Given the description of an element on the screen output the (x, y) to click on. 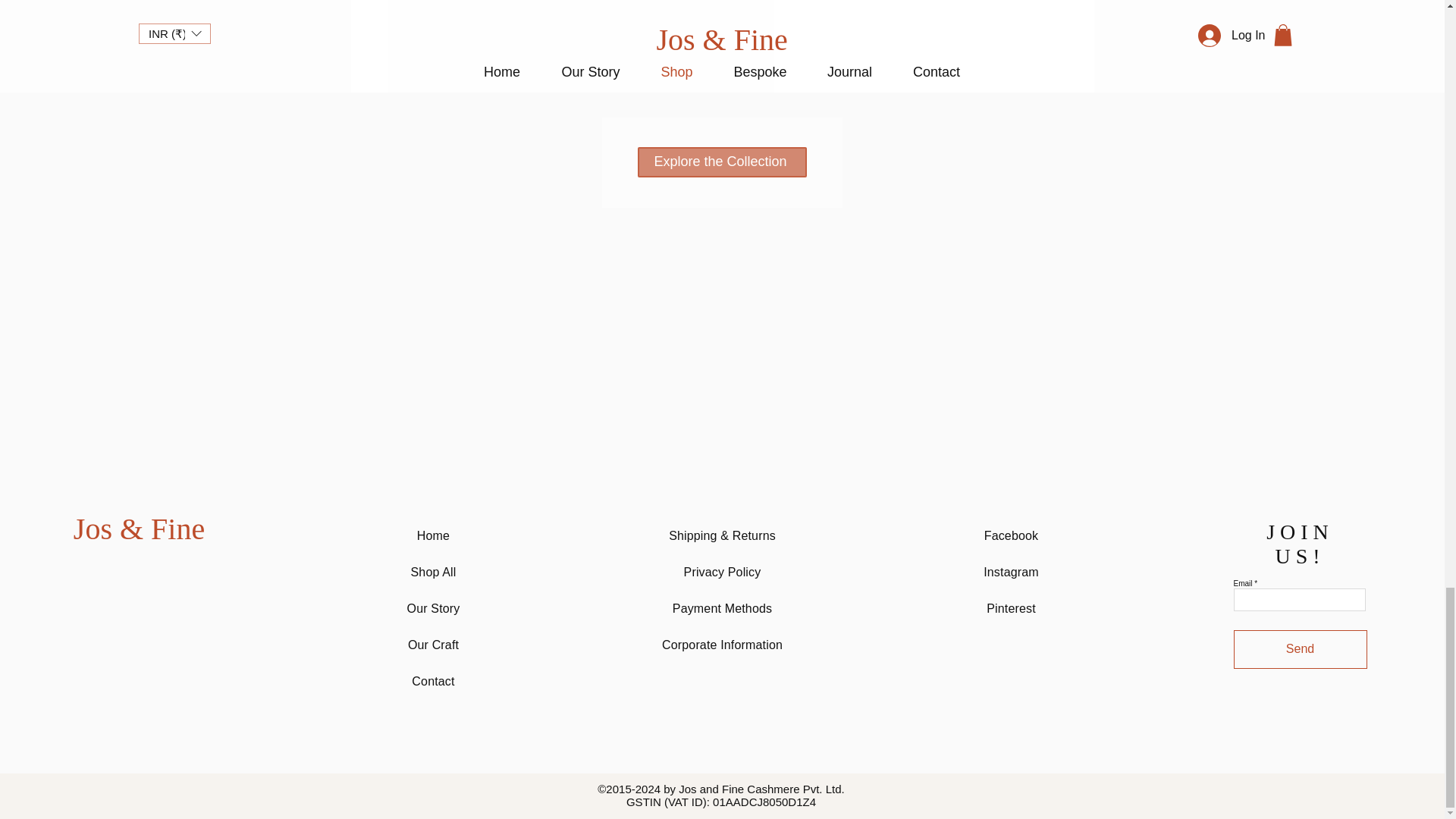
Payment Methods (721, 608)
Our Story (433, 608)
Contact (433, 680)
Home (432, 535)
Send (1300, 649)
Privacy Policy (722, 571)
Our Craft (432, 644)
Corporate Information (722, 644)
Instagram (1011, 571)
Facebook (1011, 535)
Explore the Collection (721, 162)
Shop All (433, 571)
Pinterest (1011, 608)
